Given the description of an element on the screen output the (x, y) to click on. 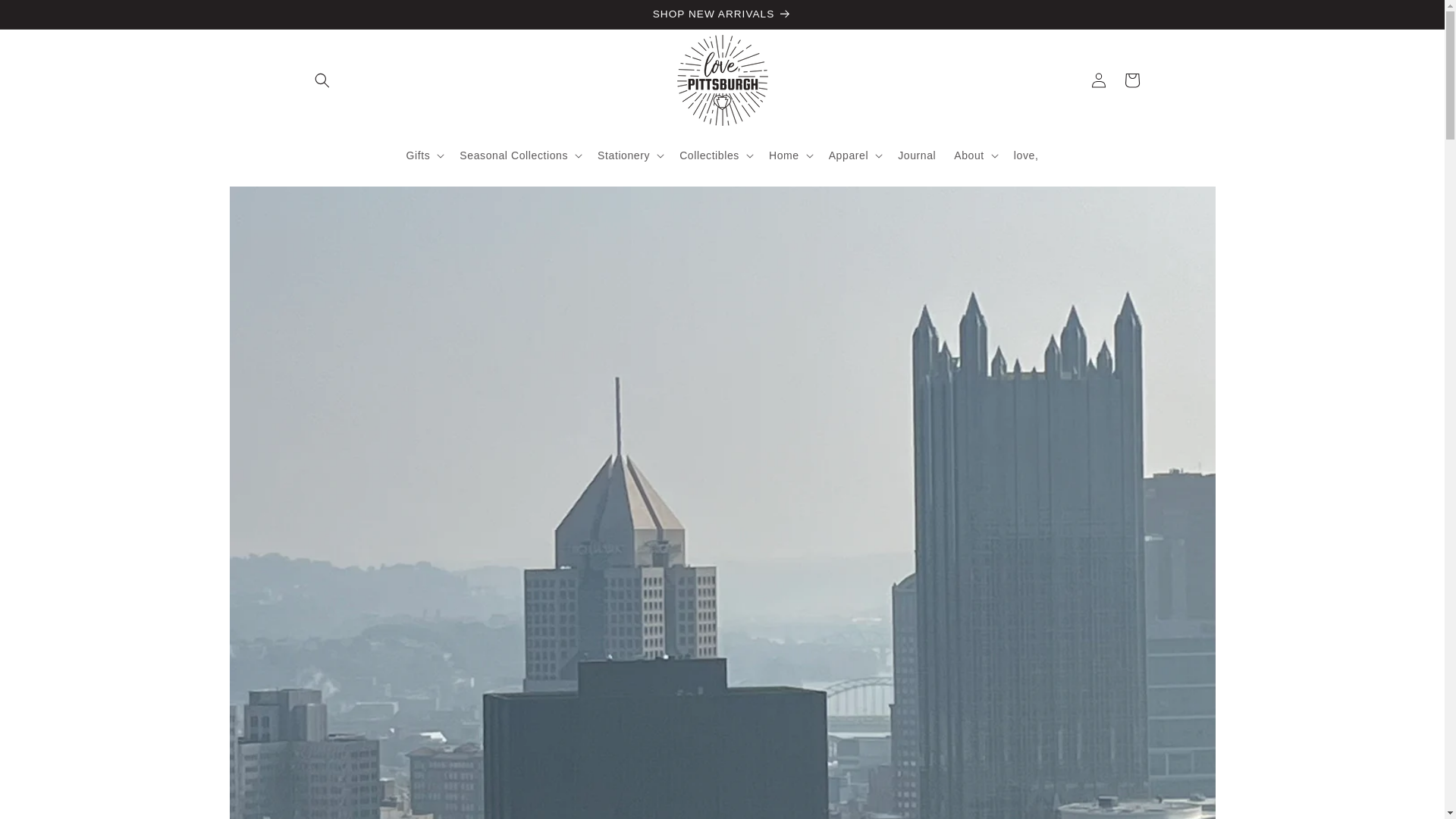
Skip to content (45, 17)
